Given the description of an element on the screen output the (x, y) to click on. 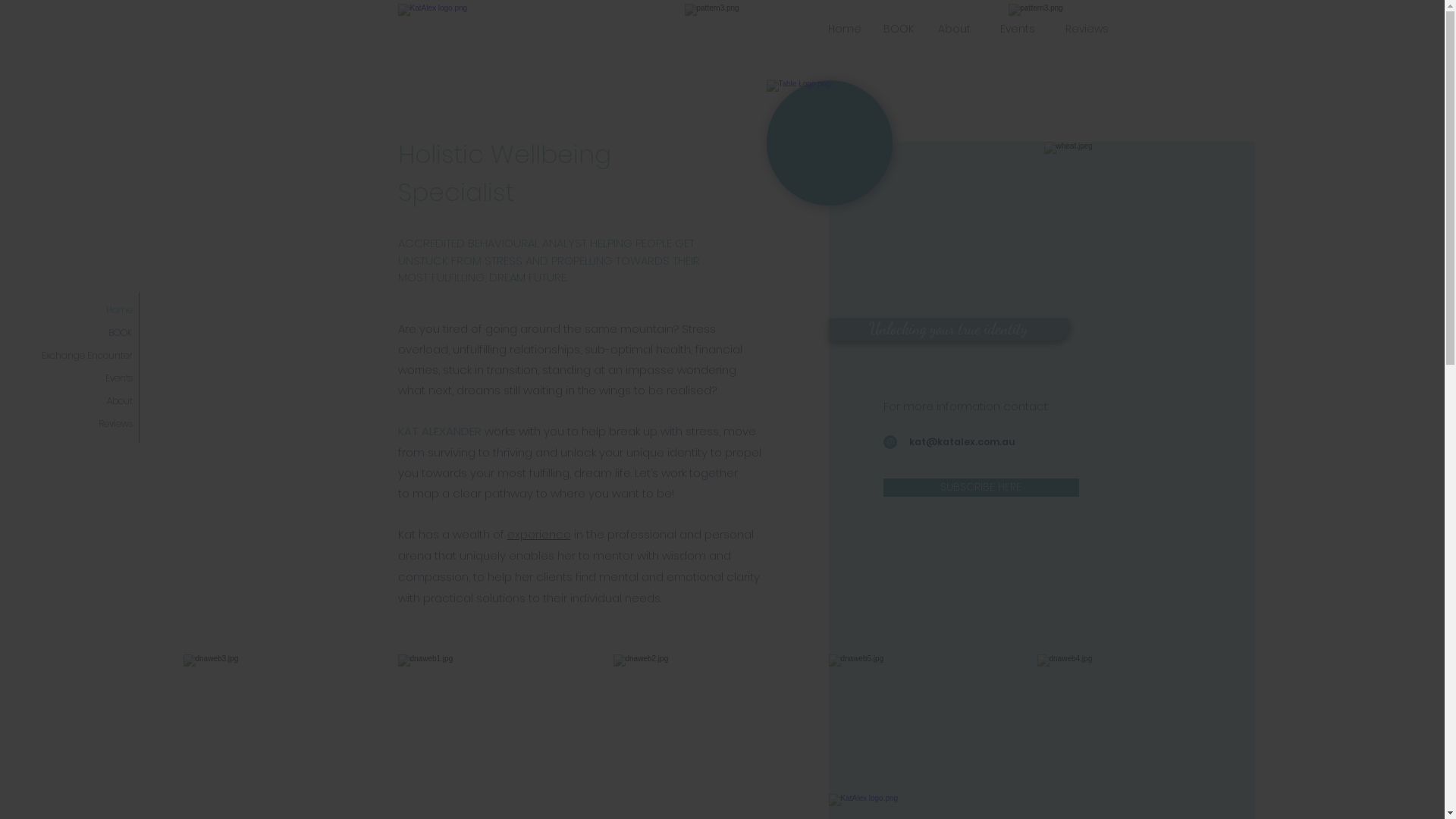
BOOK Element type: text (898, 29)
About Element type: text (75, 400)
Home Element type: text (844, 29)
Events Element type: text (75, 378)
kat@katalex.com.au Element type: text (988, 442)
experience Element type: text (538, 534)
SUBSCRIBE HERE Element type: text (980, 487)
Home Element type: text (75, 309)
Events Element type: text (1017, 29)
Unlocking your true identity Element type: text (947, 329)
Exchange Encounter Element type: text (75, 355)
About Element type: text (954, 29)
Reviews Element type: text (75, 423)
BOOK Element type: text (75, 332)
Reviews Element type: text (1087, 29)
